Given the description of an element on the screen output the (x, y) to click on. 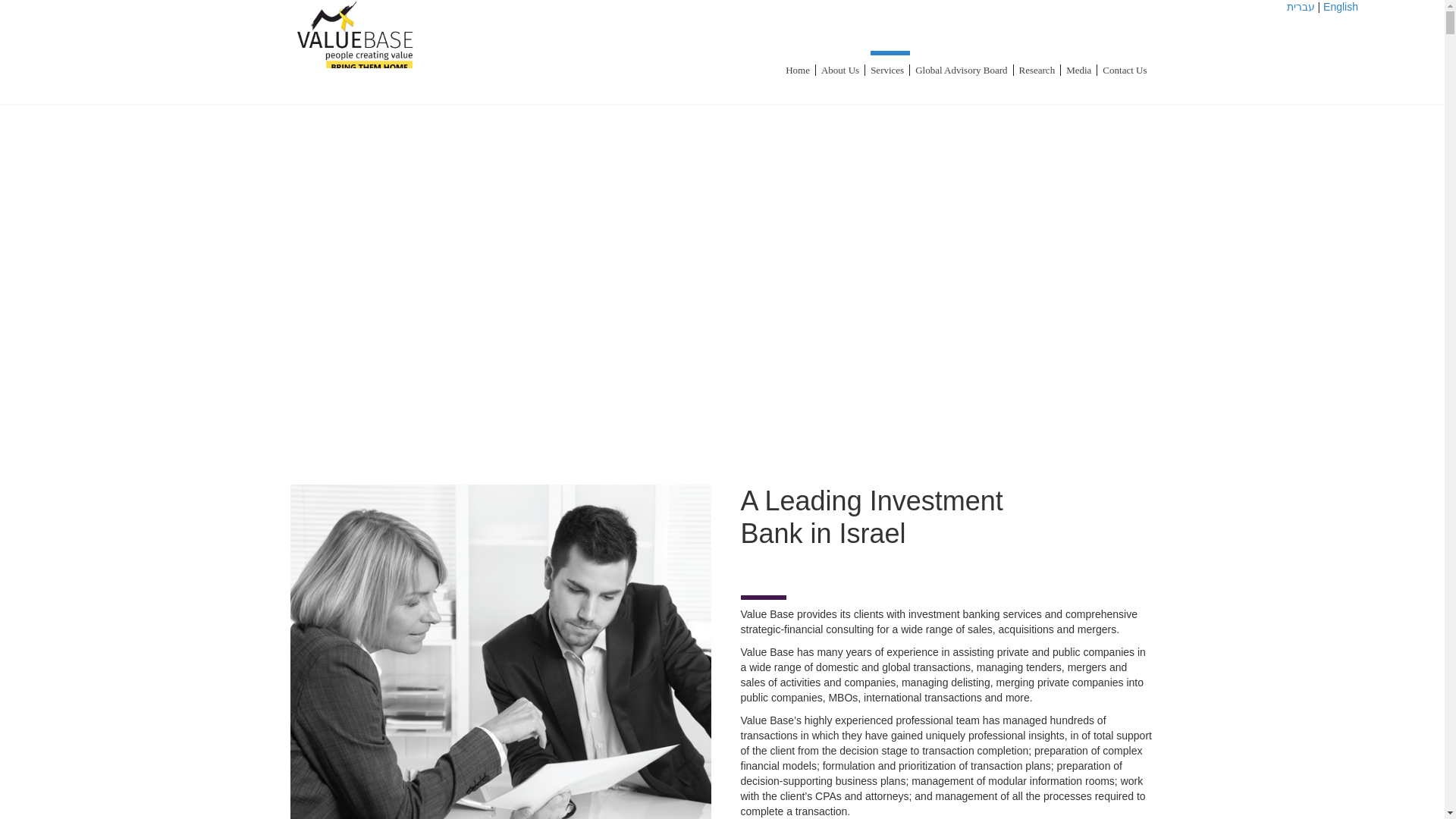
Research (1040, 59)
Contact Us (1128, 59)
English (1340, 6)
About Us (842, 59)
Global Advisory Board (964, 59)
